Given the description of an element on the screen output the (x, y) to click on. 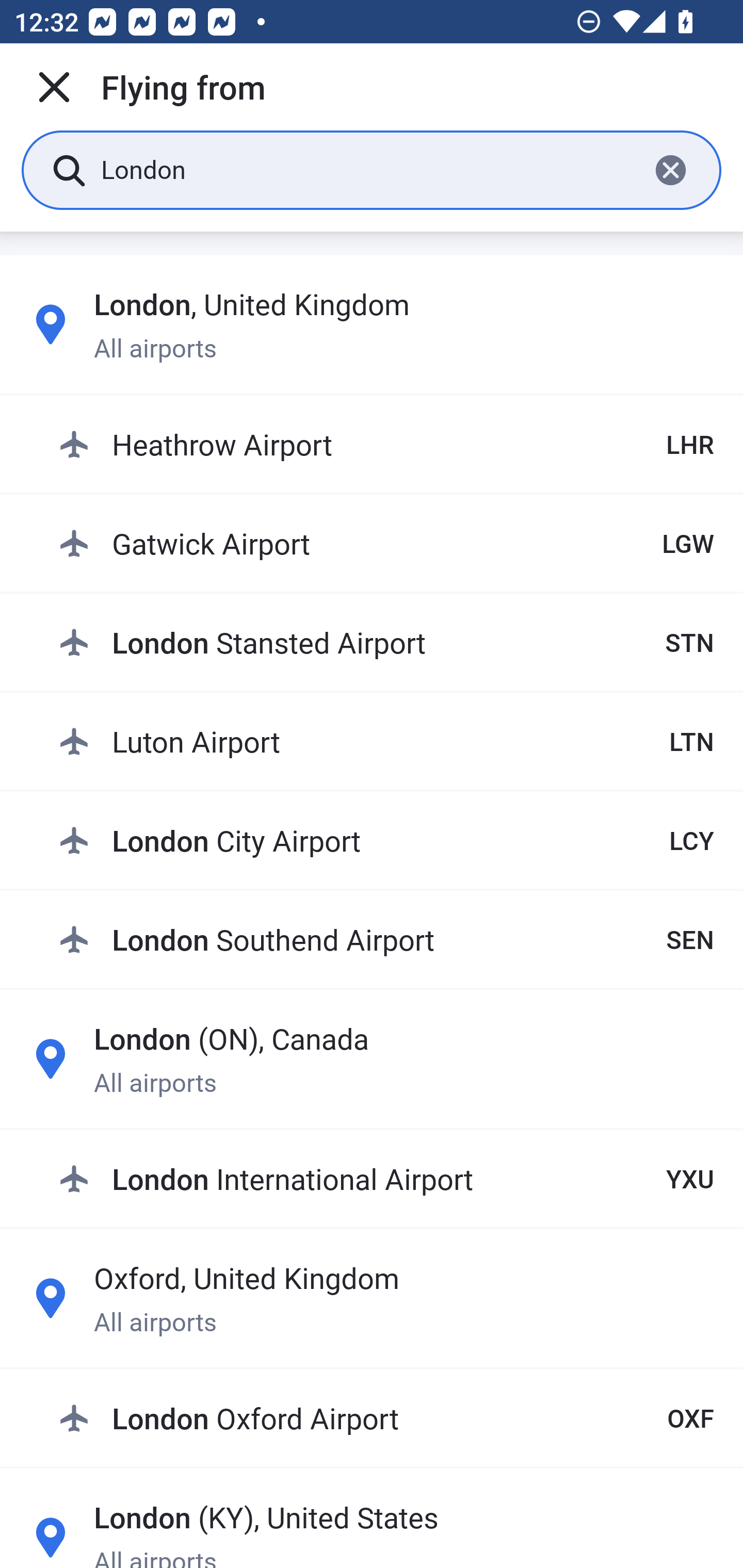
London (367, 169)
London, United Kingdom All airports (371, 324)
Heathrow Airport LHR (385, 444)
Gatwick Airport LGW (385, 543)
London Stansted Airport STN (385, 641)
Luton Airport LTN (385, 740)
London City Airport LCY (385, 839)
London Southend Airport SEN (385, 939)
London (ON), Canada All airports (371, 1059)
London International Airport YXU (385, 1178)
Oxford, United Kingdom All airports (371, 1298)
London Oxford Airport OXF (385, 1418)
London (KY), United States All airports (371, 1531)
